Given the description of an element on the screen output the (x, y) to click on. 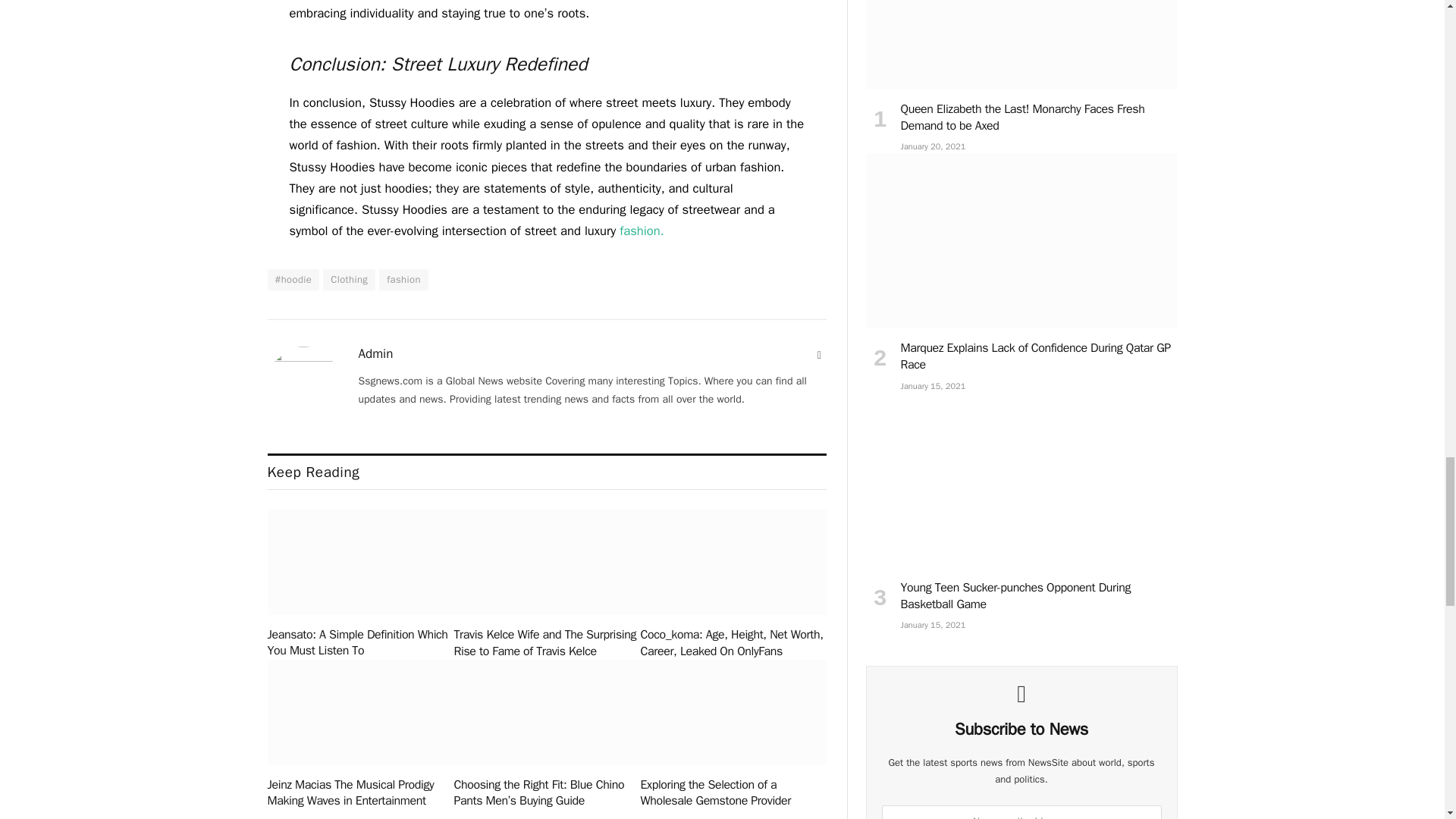
Posts by Admin (375, 353)
